Given the description of an element on the screen output the (x, y) to click on. 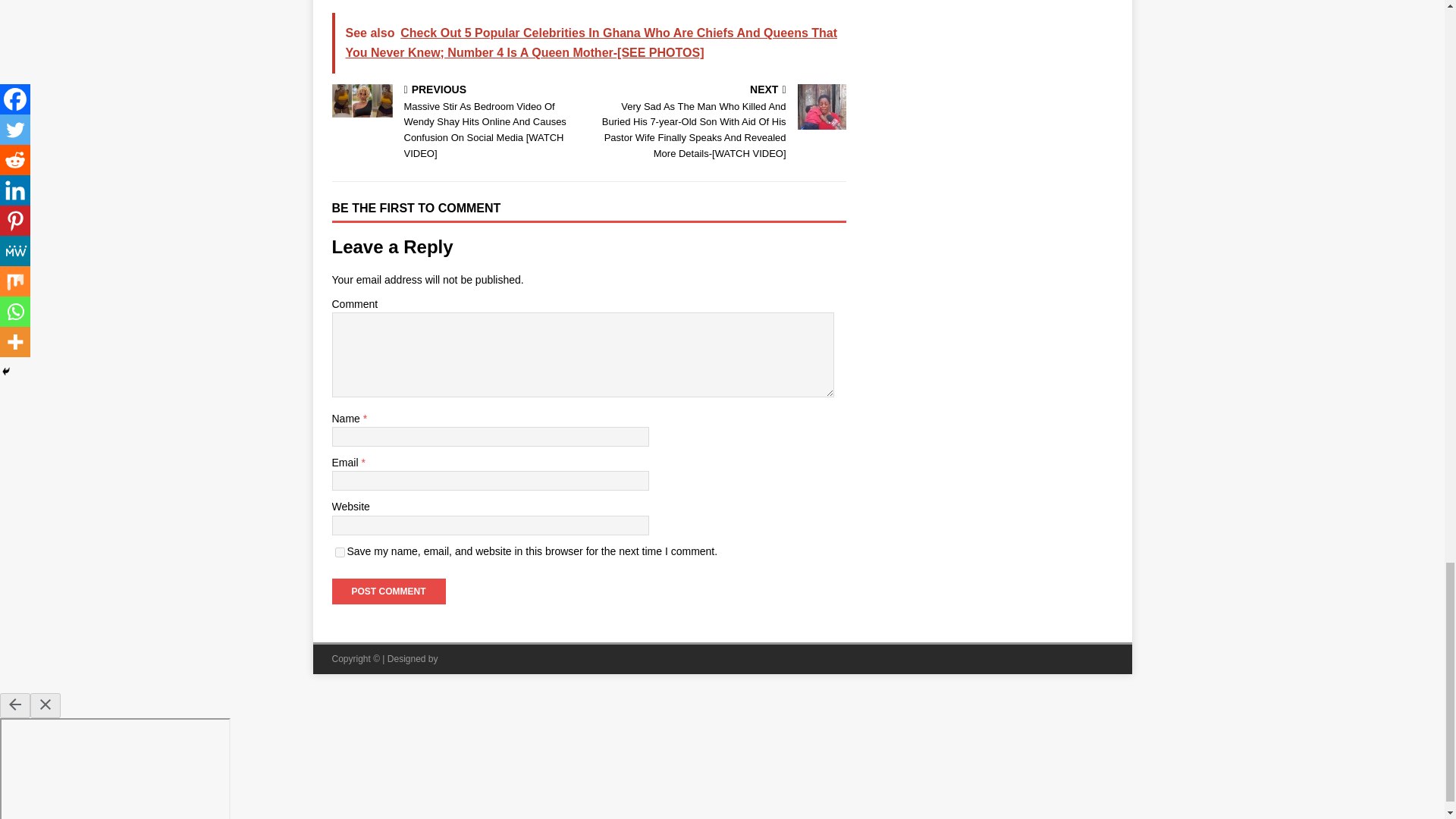
yes (339, 552)
Post Comment (388, 591)
Post Comment (388, 591)
